Given the description of an element on the screen output the (x, y) to click on. 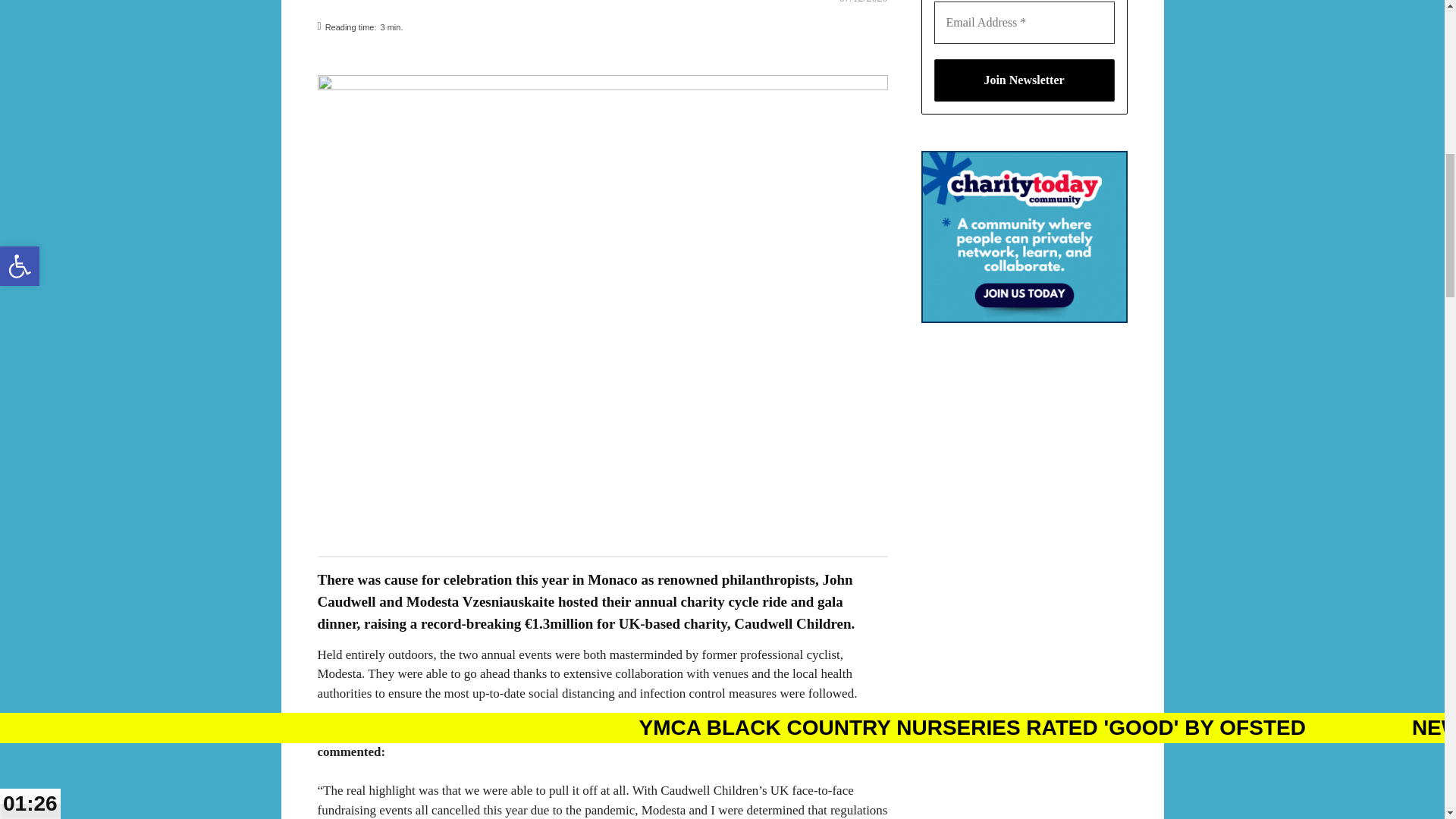
Join Newsletter (1024, 79)
